Given the description of an element on the screen output the (x, y) to click on. 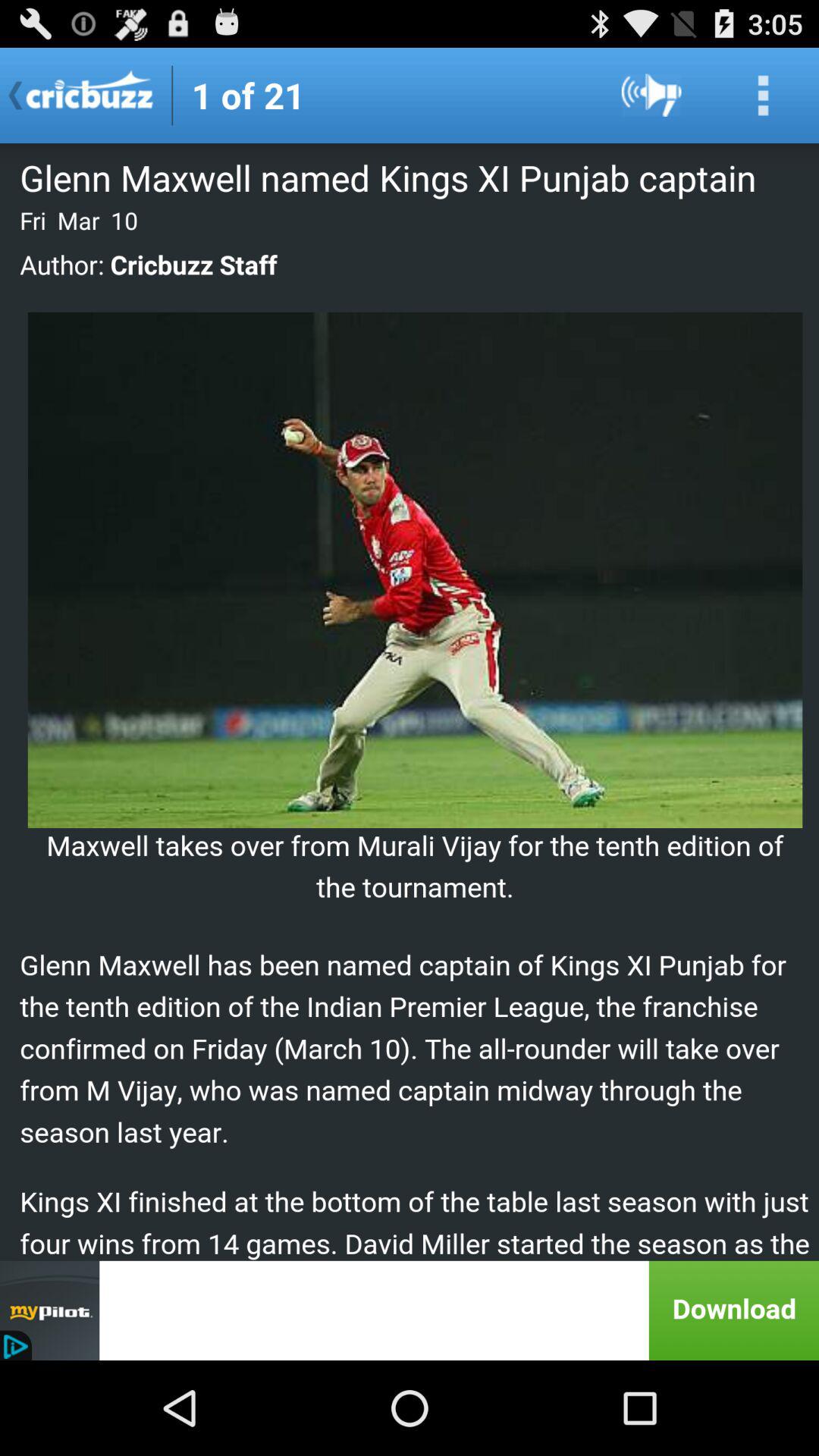
details about advertisement (409, 1310)
